Given the description of an element on the screen output the (x, y) to click on. 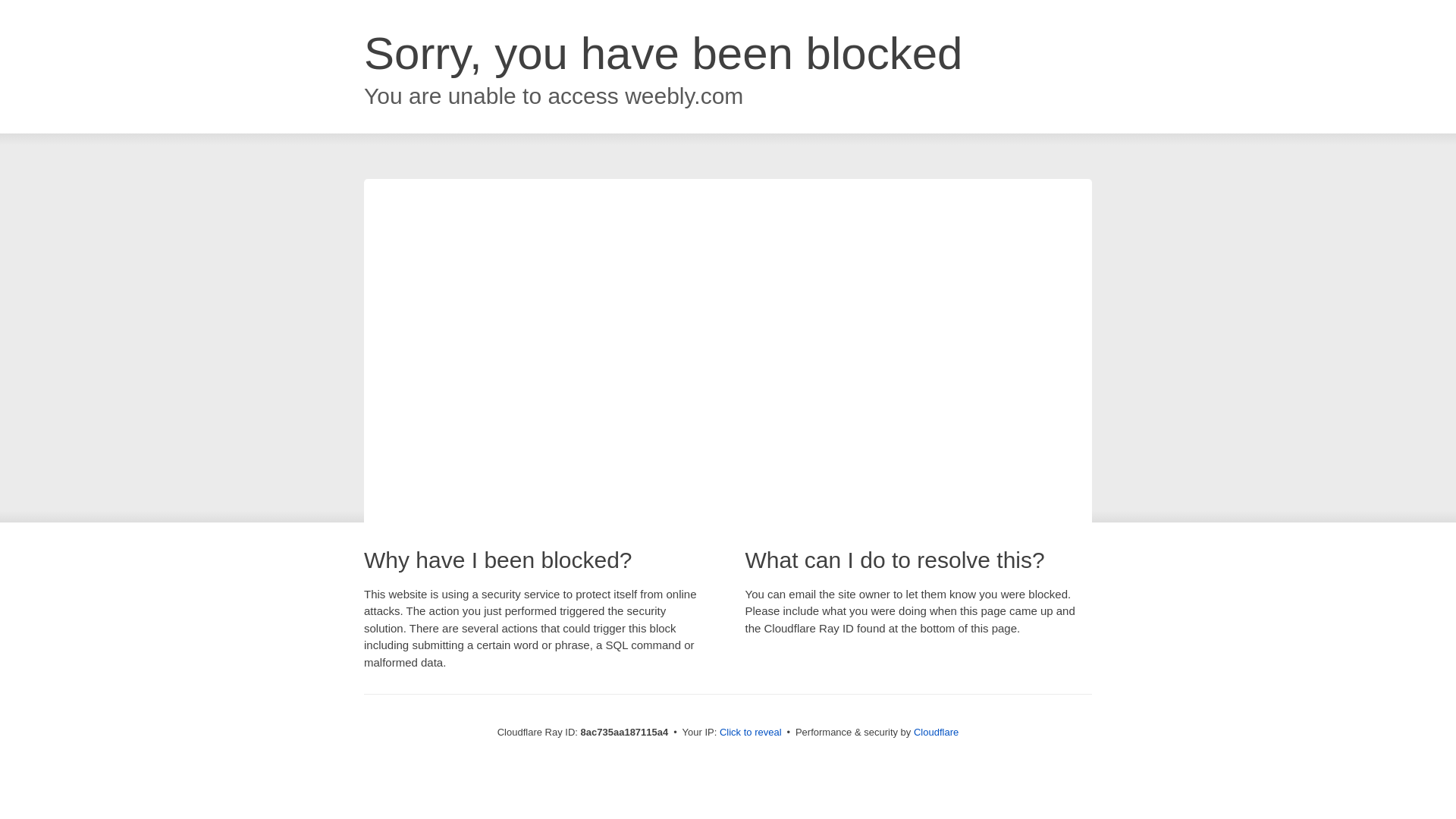
Click to reveal (750, 732)
Cloudflare (936, 731)
